Given the description of an element on the screen output the (x, y) to click on. 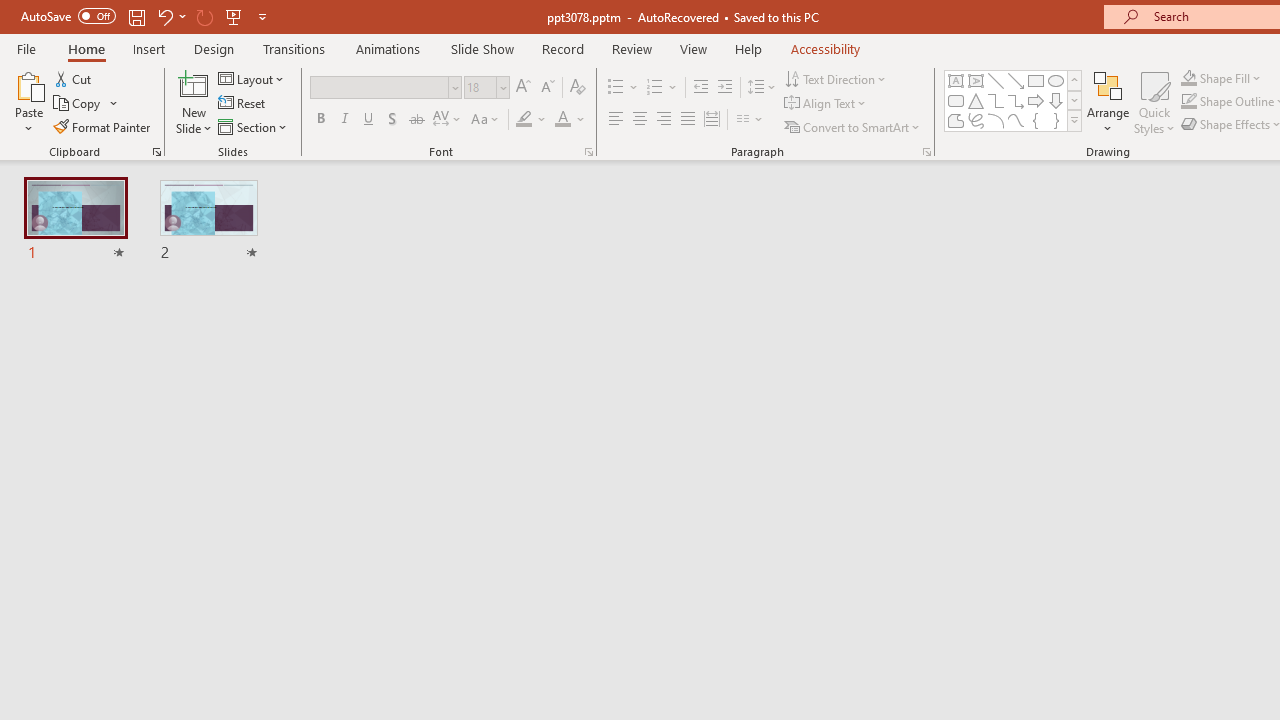
Class: actions-container (1027, 264)
Go Forward (Alt+RightArrow) (652, 264)
Explorer actions (390, 322)
